Given the description of an element on the screen output the (x, y) to click on. 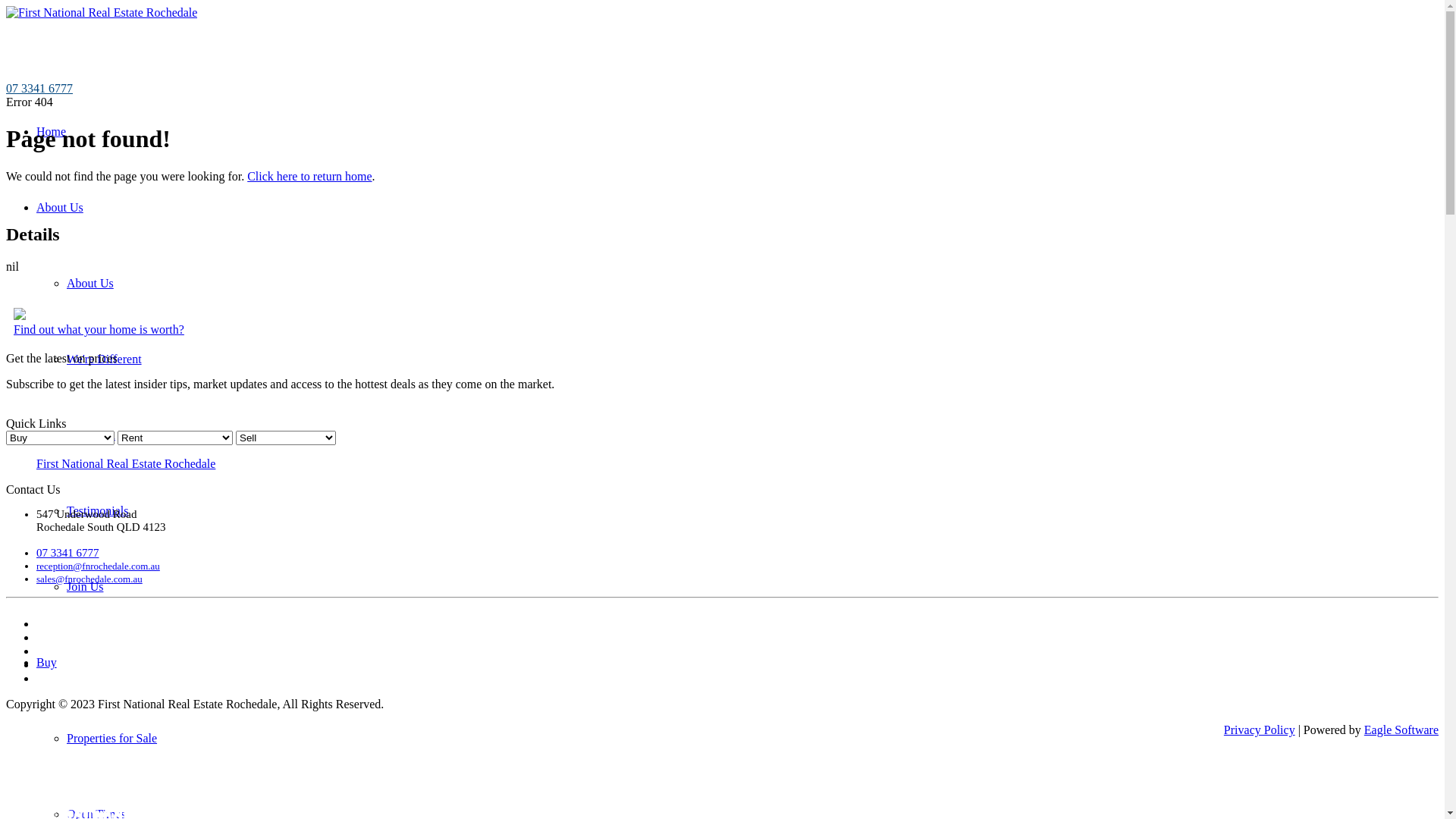
sales@fnrochedale.com.au Element type: text (89, 578)
Subscribe Element type: text (29, 409)
Click here to return home Element type: text (309, 175)
Home Element type: text (50, 131)
About Us Element type: text (89, 282)
Eagle Software Element type: text (1401, 729)
Privacy Policy Element type: text (1259, 729)
07 3341 6777 Element type: text (67, 552)
First National Real Estate Rochedale Element type: text (125, 463)
Join Us Element type: text (84, 586)
reception@fnrochedale.com.au Element type: text (98, 565)
About Us Element type: text (59, 206)
Find out what your home is worth? Element type: text (98, 329)
Testimonials Element type: text (97, 510)
Properties for Sale Element type: text (111, 737)
Buy Element type: text (46, 661)
Our Team Element type: text (90, 434)
07 3341 6777 Element type: text (39, 87)
We're Different Element type: text (103, 358)
